Given the description of an element on the screen output the (x, y) to click on. 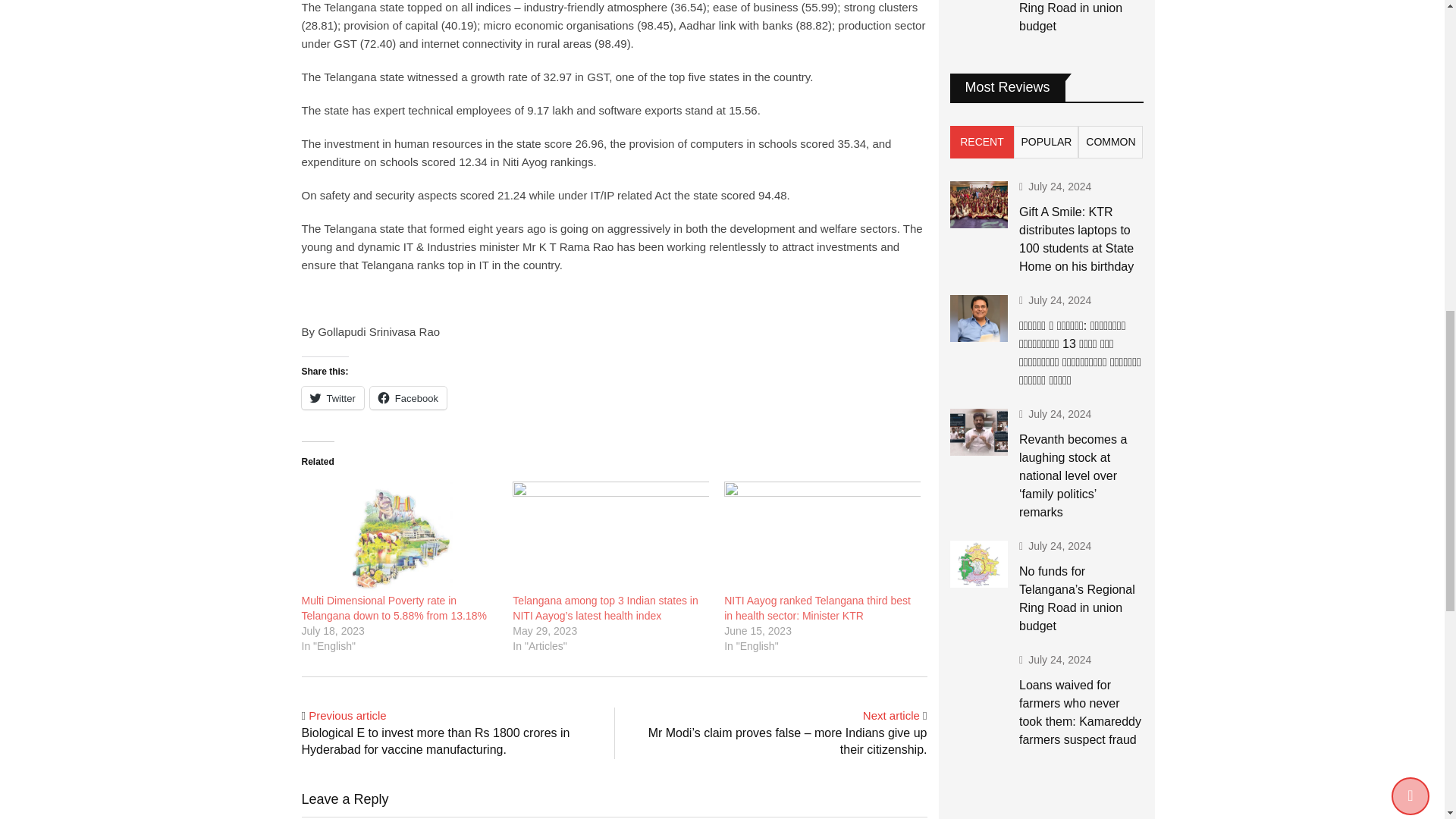
Facebook (407, 397)
Click to share on Twitter (332, 397)
Twitter (332, 397)
Click to share on Facebook (407, 397)
